Given the description of an element on the screen output the (x, y) to click on. 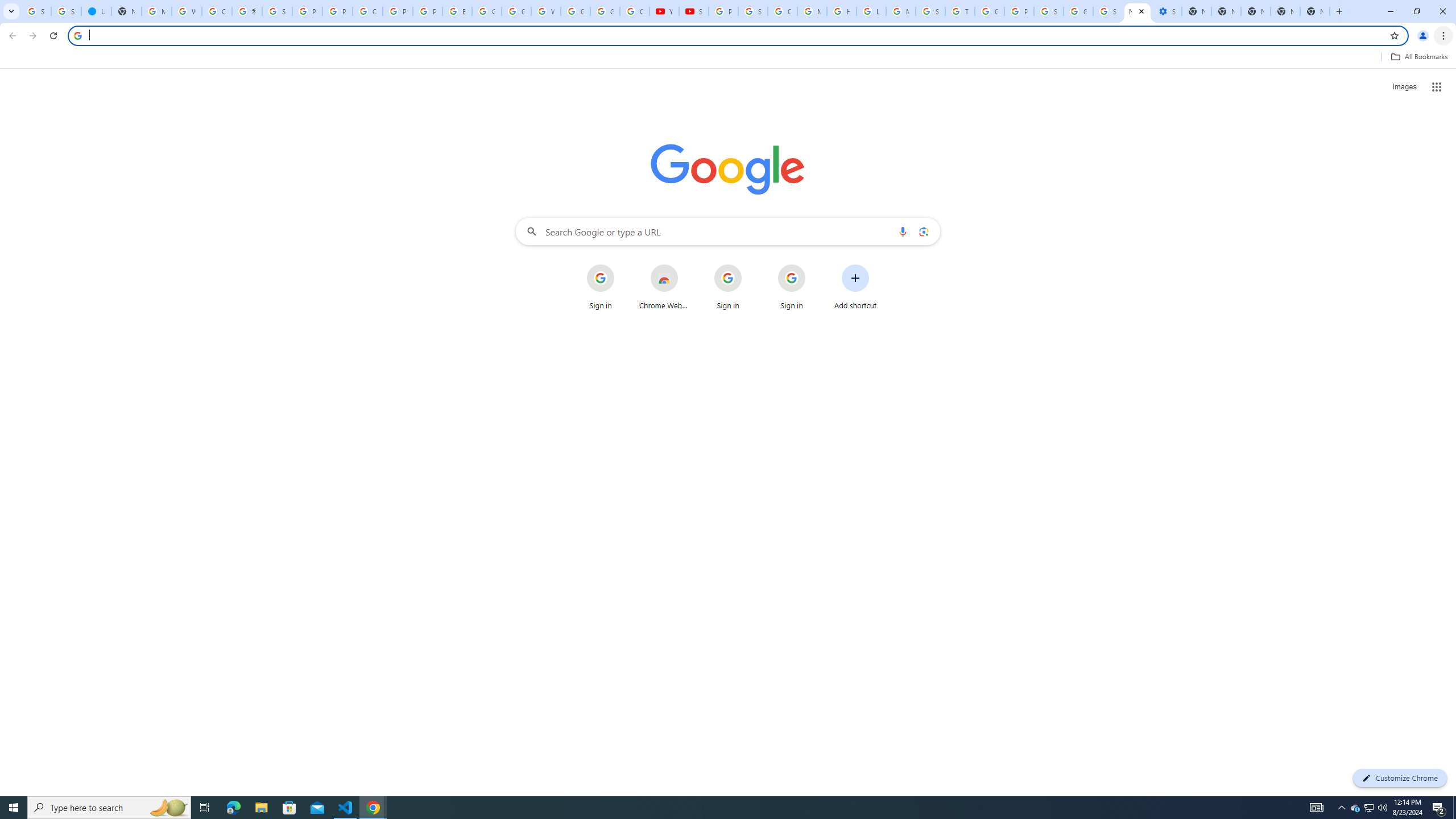
Sign in - Google Accounts (1048, 11)
Search our Doodle Library Collection - Google Doodles (930, 11)
Trusted Information and Content - Google Safety Center (959, 11)
Search Google or type a URL (727, 230)
Who is my administrator? - Google Account Help (185, 11)
